Given the description of an element on the screen output the (x, y) to click on. 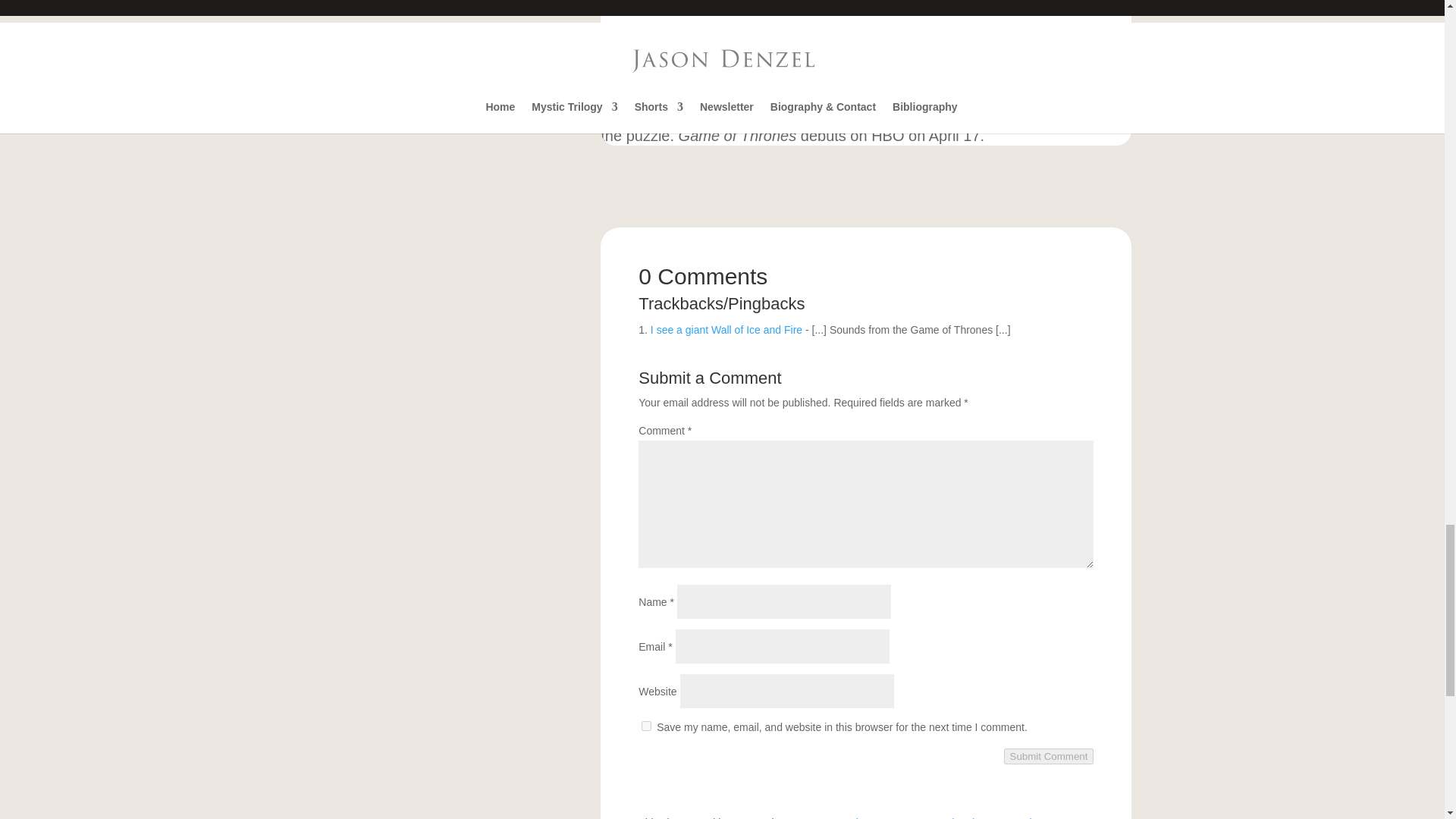
I see a giant Wall of Ice and Fire (726, 329)
Learn how your comment data is processed (928, 817)
Submit Comment (1049, 756)
yes (646, 726)
